Given the description of an element on the screen output the (x, y) to click on. 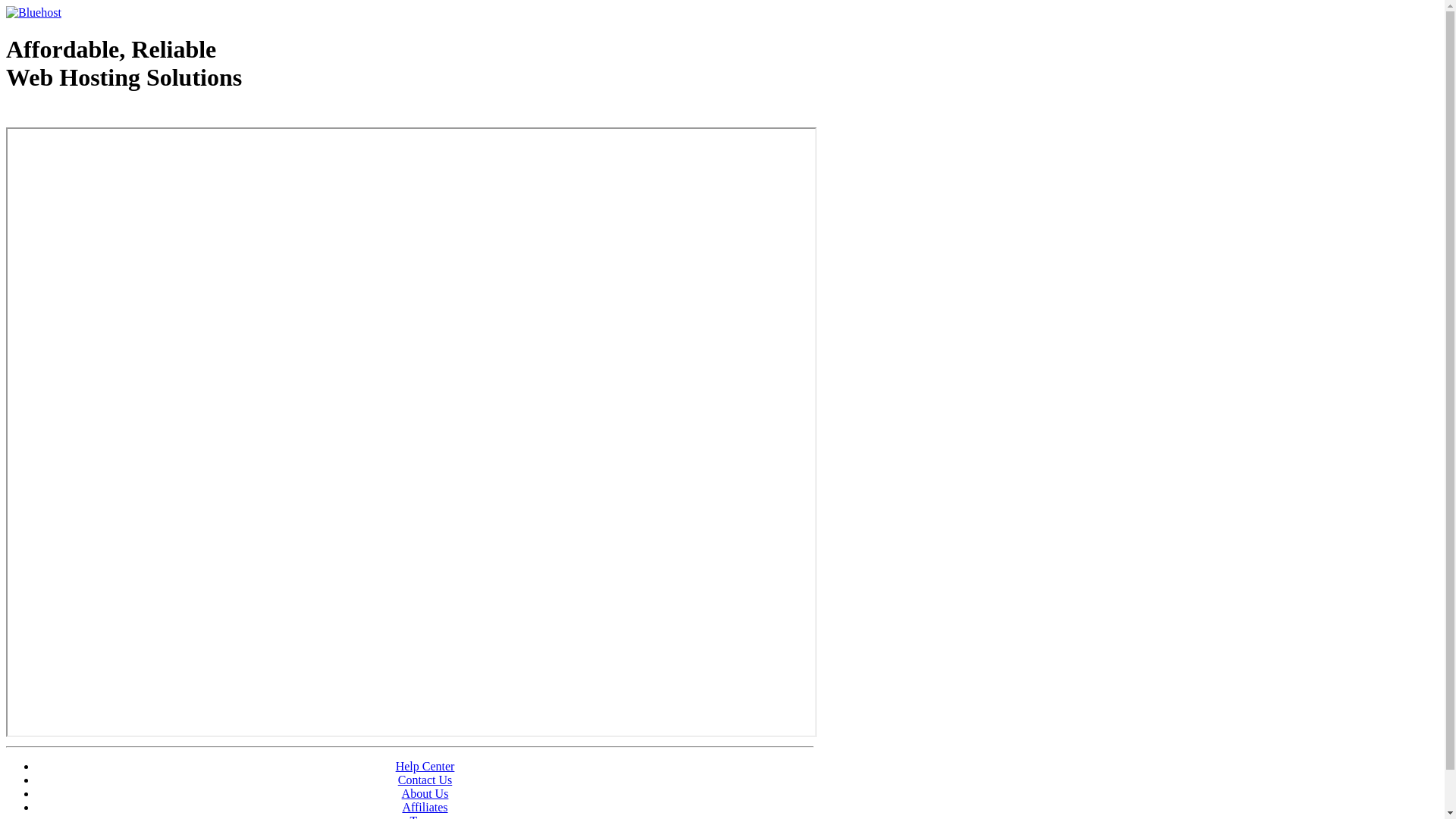
About Us Element type: text (424, 793)
Web Hosting - courtesy of www.bluehost.com Element type: text (94, 115)
Affiliates Element type: text (424, 806)
Contact Us Element type: text (425, 779)
Help Center Element type: text (425, 765)
